Given the description of an element on the screen output the (x, y) to click on. 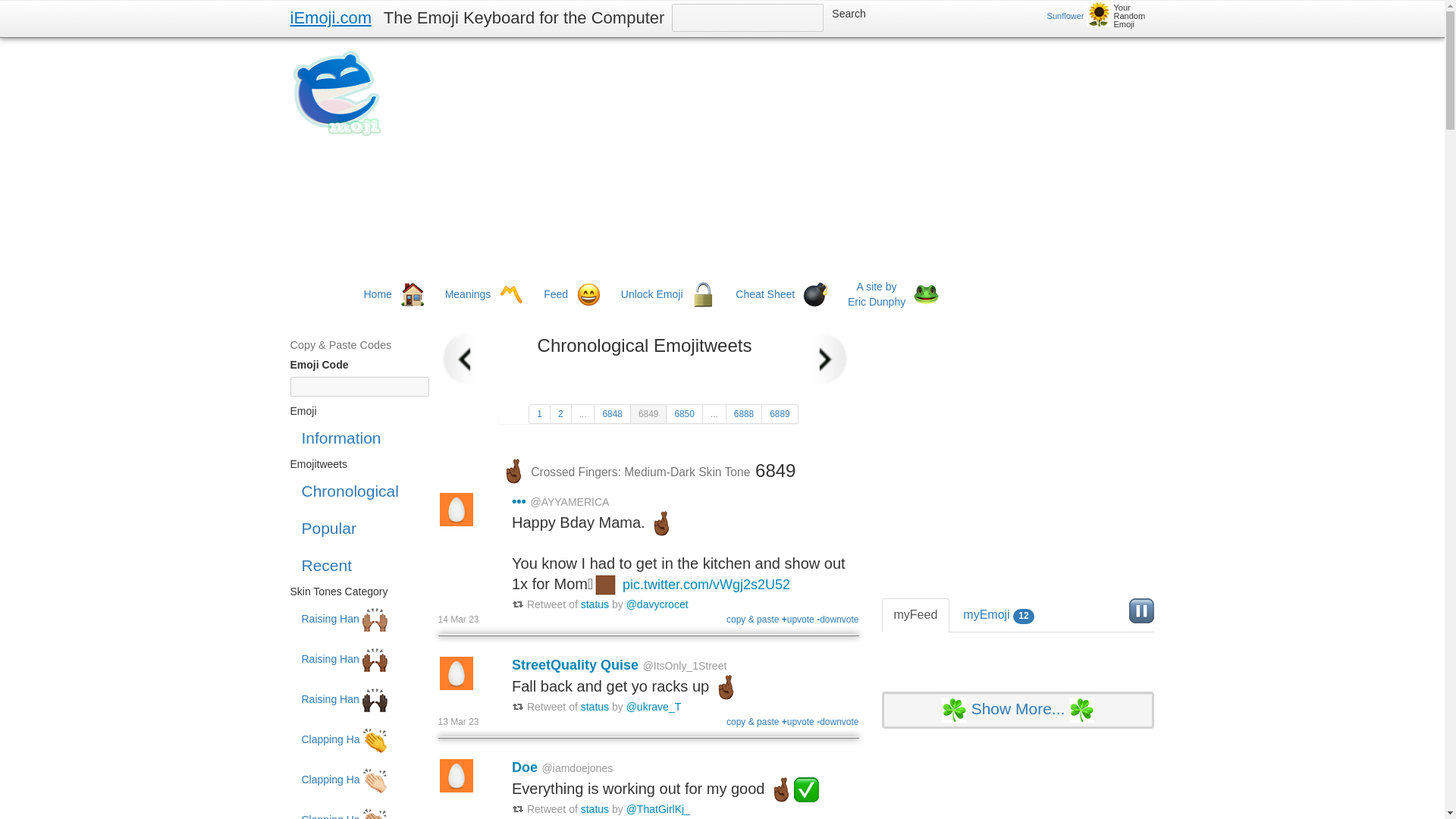
Previous emoji (468, 358)
Unlock Emoji (651, 294)
Part Alternation Mark (511, 294)
1 (539, 414)
iEmoij Feed (575, 664)
2023-03-14T04:19:11-04:00 (458, 619)
14 Mar 23 (458, 619)
Search (848, 14)
Meanings (467, 294)
Search (848, 14)
Frog Face (926, 294)
iEmoij Feed (518, 500)
House (412, 294)
2 (561, 414)
Next page (820, 358)
